Given the description of an element on the screen output the (x, y) to click on. 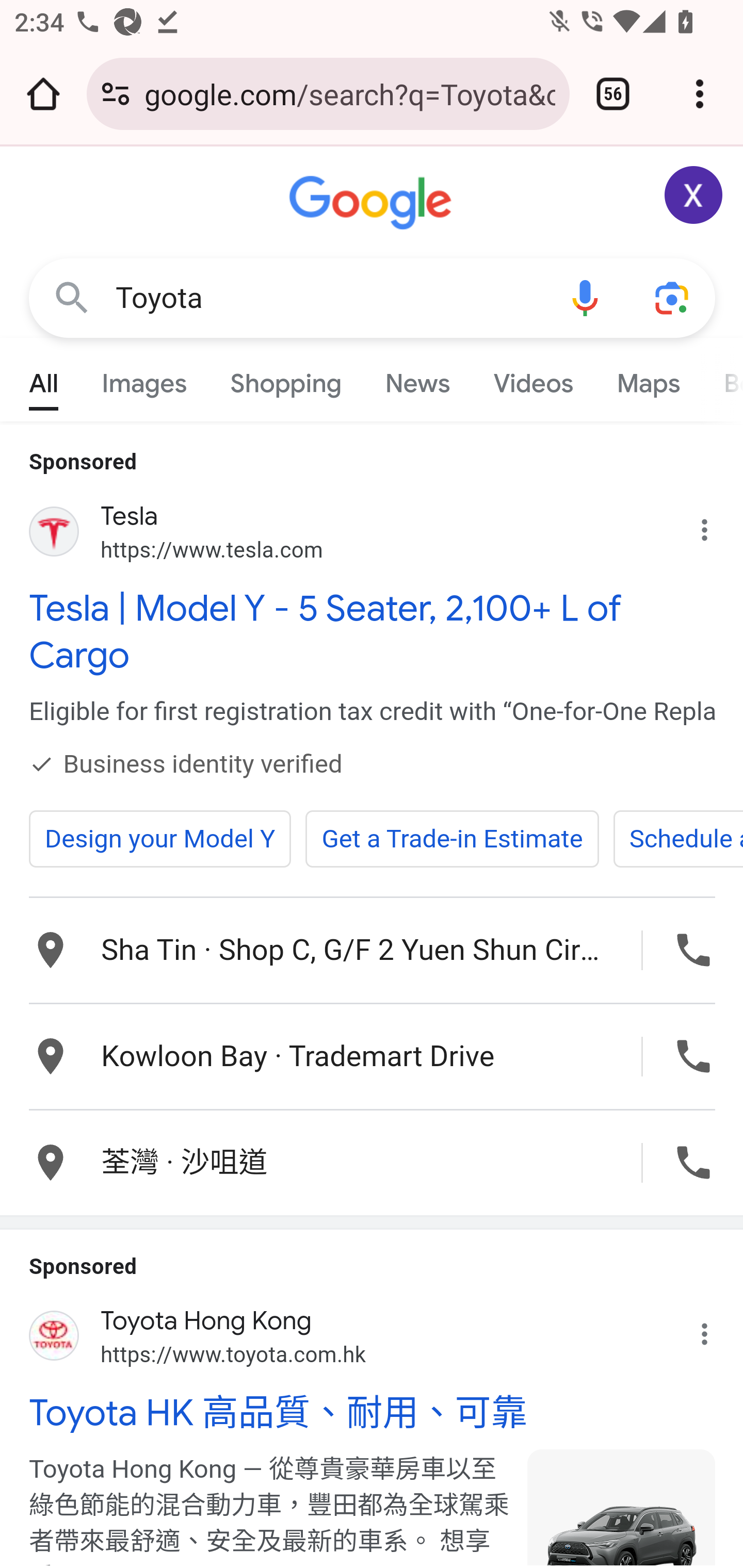
Open the home page (43, 93)
Connection is secure (115, 93)
Switch or close tabs (612, 93)
Customize and control Google Chrome (699, 93)
Google (372, 203)
Google Account: Xiaoran (zxrappiumtest@gmail.com) (694, 195)
Google Search (71, 296)
Search using your camera or photos (672, 296)
Toyota (328, 297)
Images (144, 378)
Shopping (285, 378)
News (417, 378)
Videos (533, 378)
Maps (647, 378)
Why this ad? (714, 525)
Tesla | Model Y - 5 Seater, 2,100+ L of Cargo (372, 631)
Design your Model Y (160, 838)
Get a Trade-in Estimate (451, 838)
Schedule a Test Drive (677, 838)
Kowloon Bay · Trademart Drive (321, 1056)
荃灣 · 沙咀道 (321, 1162)
Why this ad? (714, 1329)
Toyota HK 高品質、耐用、可靠 (372, 1411)
Image from toyota.com.hk (621, 1507)
